Given the description of an element on the screen output the (x, y) to click on. 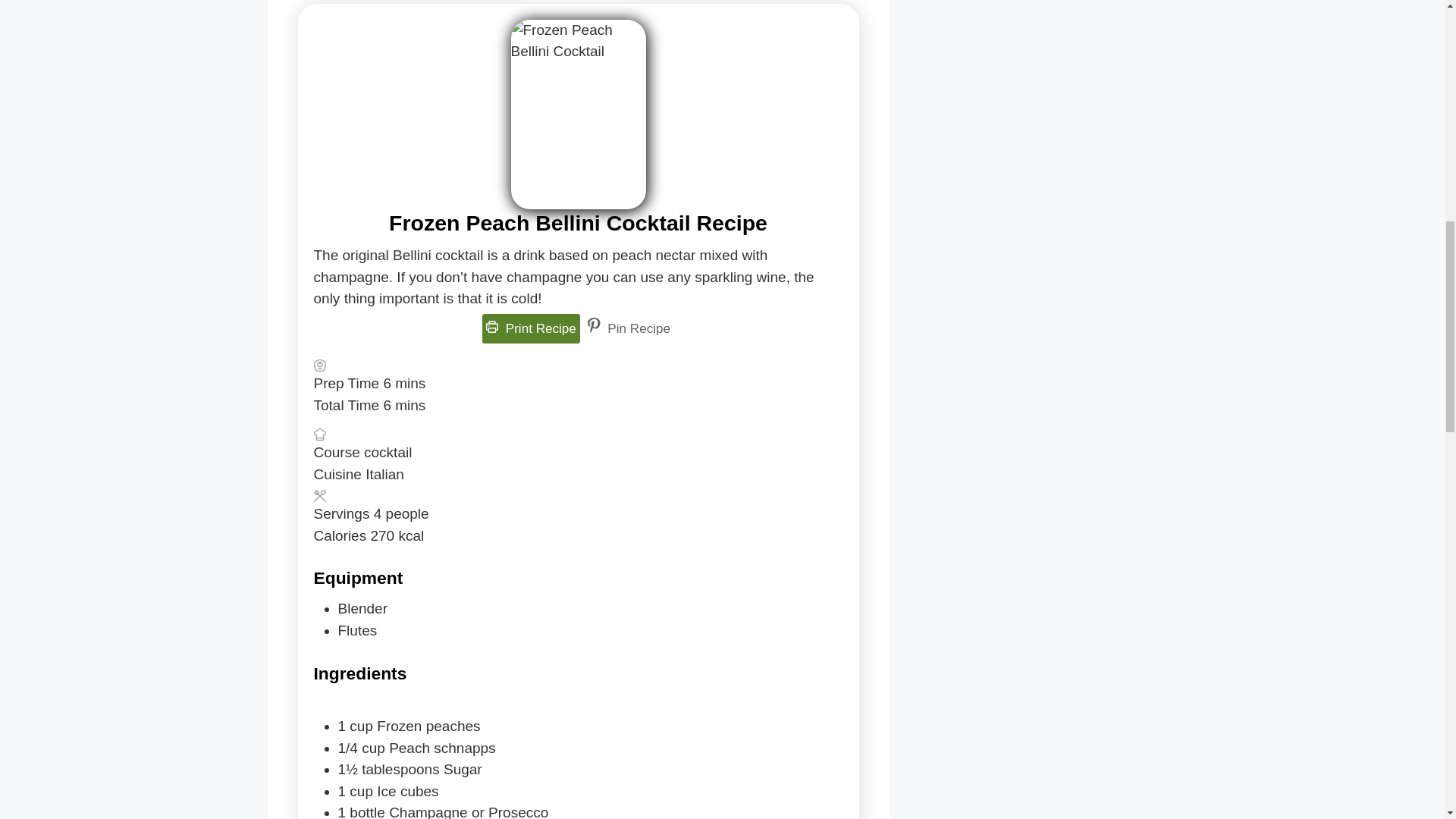
Pin Recipe (628, 328)
Print Recipe (530, 328)
